Given the description of an element on the screen output the (x, y) to click on. 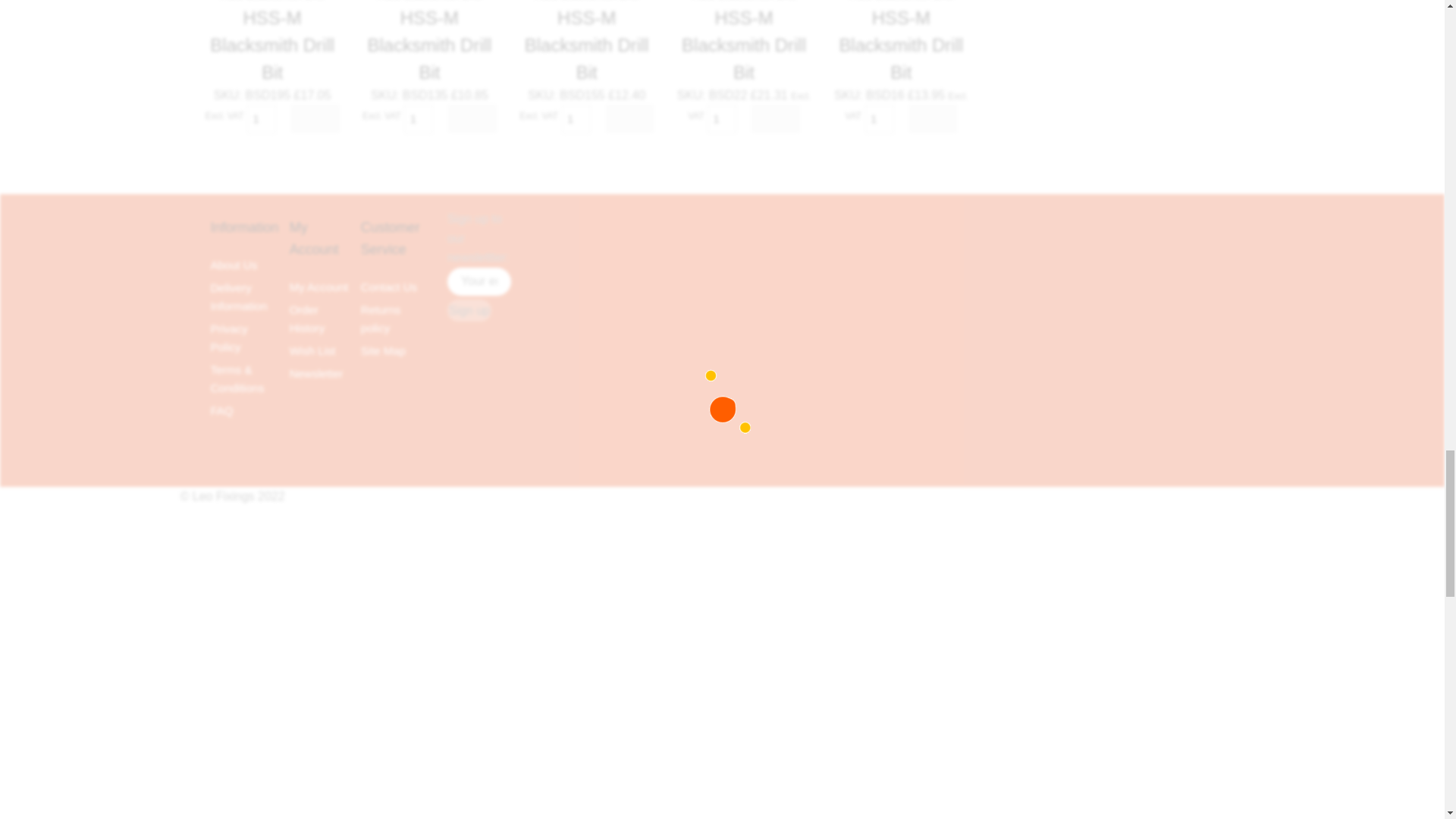
Qty (261, 118)
Qty (418, 118)
Minimum qty is 1 (775, 118)
Qty (576, 118)
1 (878, 118)
Minimum qty is 1 (629, 118)
1 (418, 118)
1 (721, 118)
1 (576, 118)
Minimum qty is 1 (472, 118)
